Given the description of an element on the screen output the (x, y) to click on. 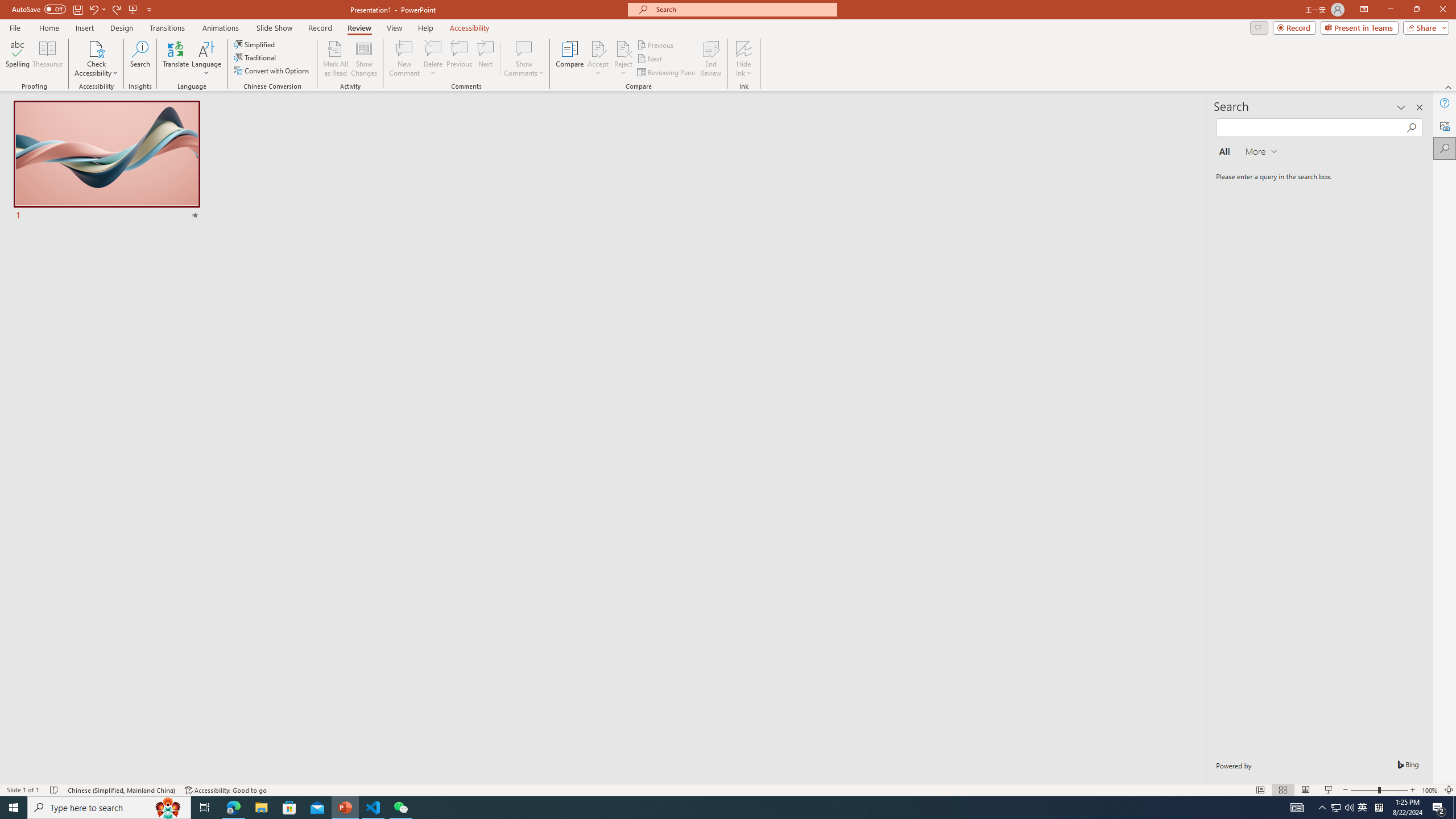
Translate (175, 58)
Accept Change (598, 48)
Compare (569, 58)
Reject Change (622, 48)
Mark All as Read (335, 58)
